Given the description of an element on the screen output the (x, y) to click on. 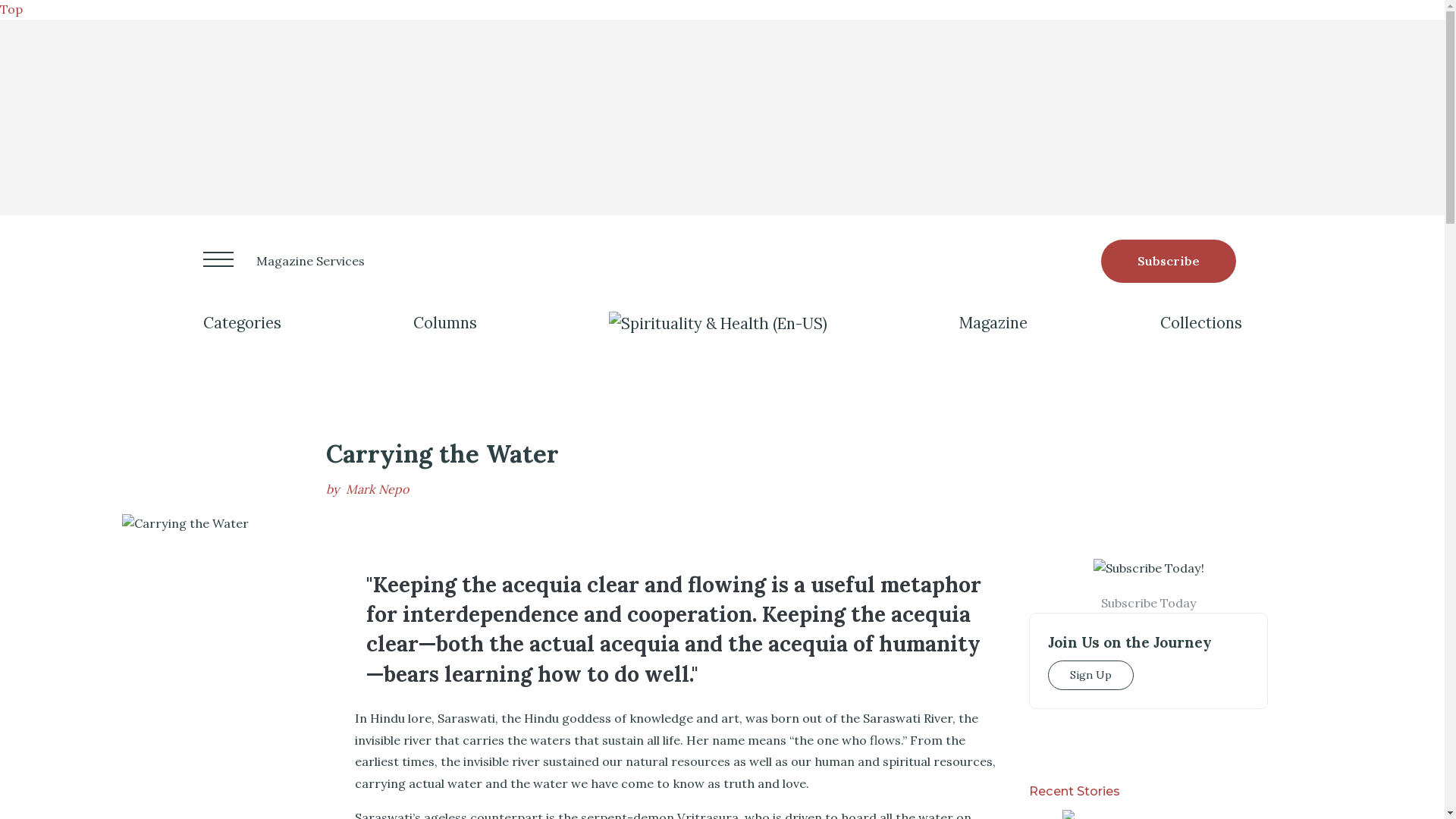
Opens to Store site (1168, 261)
Columns (445, 322)
Categories (242, 322)
Top (11, 8)
Subscribe (1168, 261)
Magazine (993, 322)
Magazine Services (310, 260)
Collections (1200, 322)
